Given the description of an element on the screen output the (x, y) to click on. 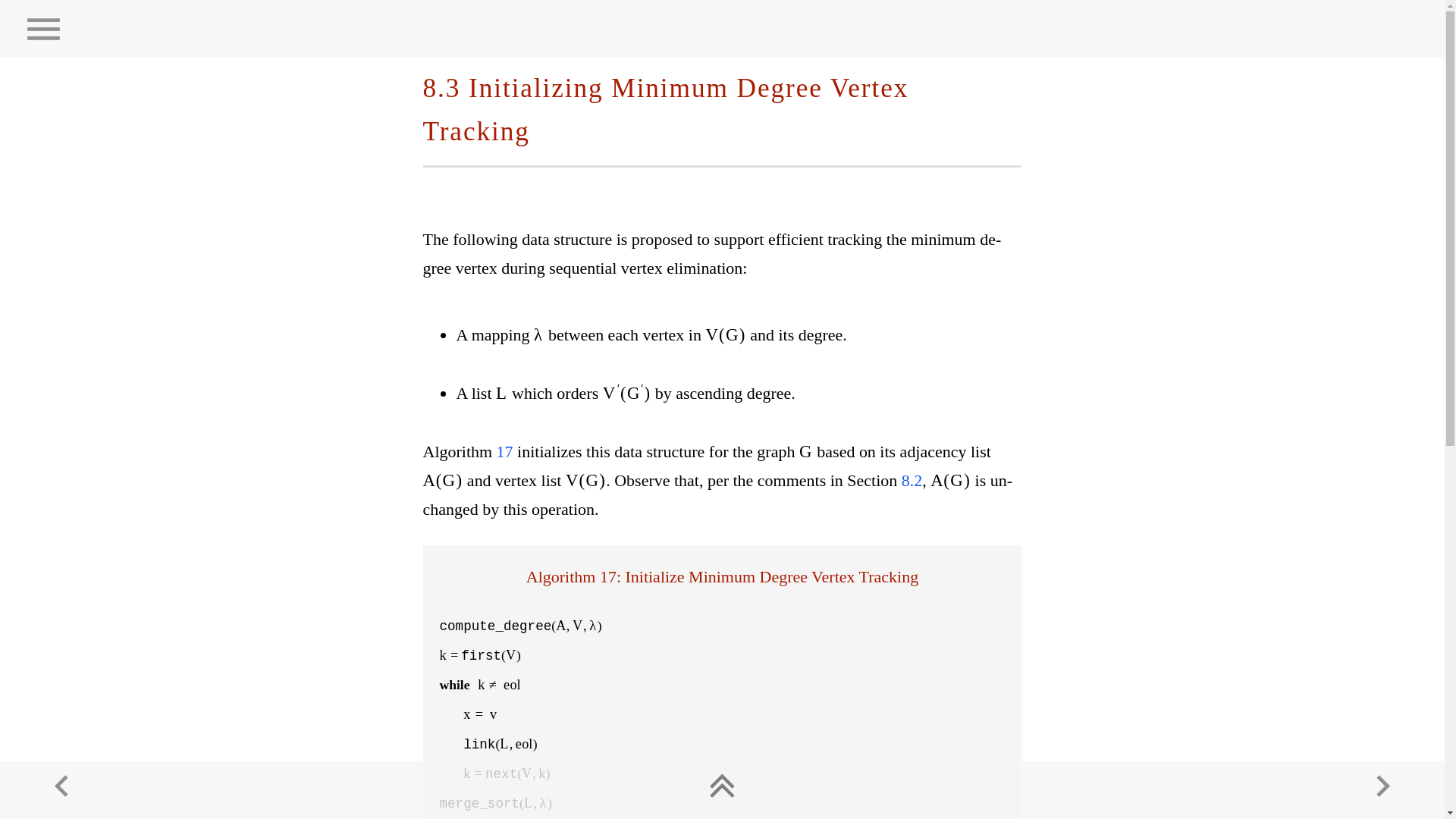
8 Vertex Elimination (722, 783)
8.2 Eliminating Many Vertices (61, 785)
8.2 (911, 479)
8.4 Maintaining the Reduced Graph (1383, 785)
